Given the description of an element on the screen output the (x, y) to click on. 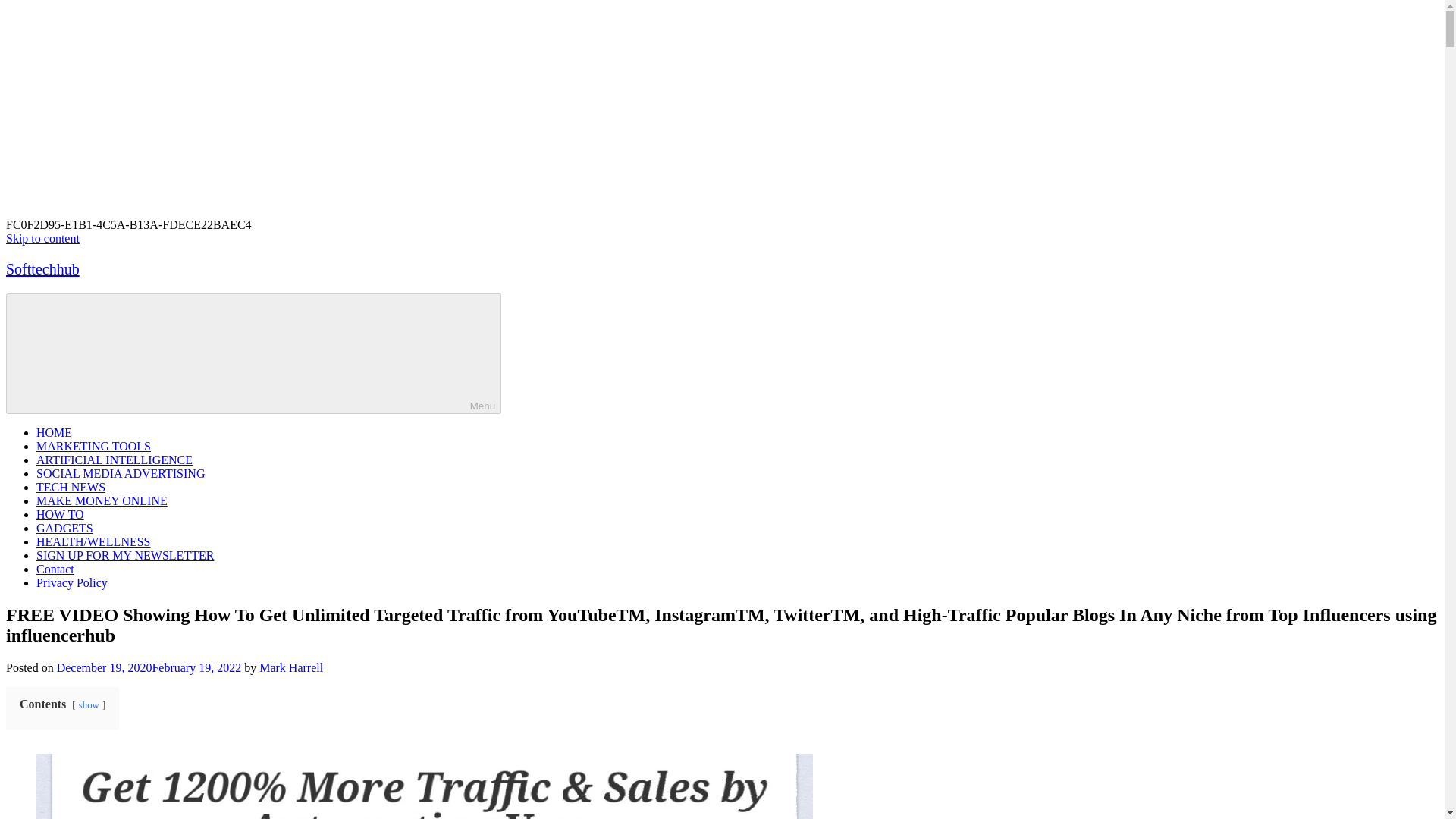
show (88, 705)
View all posts by Mark Harrell (291, 667)
HOW TO (60, 513)
Mark Harrell (291, 667)
Contact (55, 568)
MARKETING TOOLS (93, 445)
MAKE MONEY ONLINE (101, 500)
TECH NEWS (70, 486)
Privacy Policy (71, 582)
Skip to content (42, 237)
SOCIAL MEDIA ADVERTISING (120, 472)
SIGN UP FOR MY NEWSLETTER (125, 554)
December 19, 2020February 19, 2022 (148, 667)
Menu (252, 353)
